Given the description of an element on the screen output the (x, y) to click on. 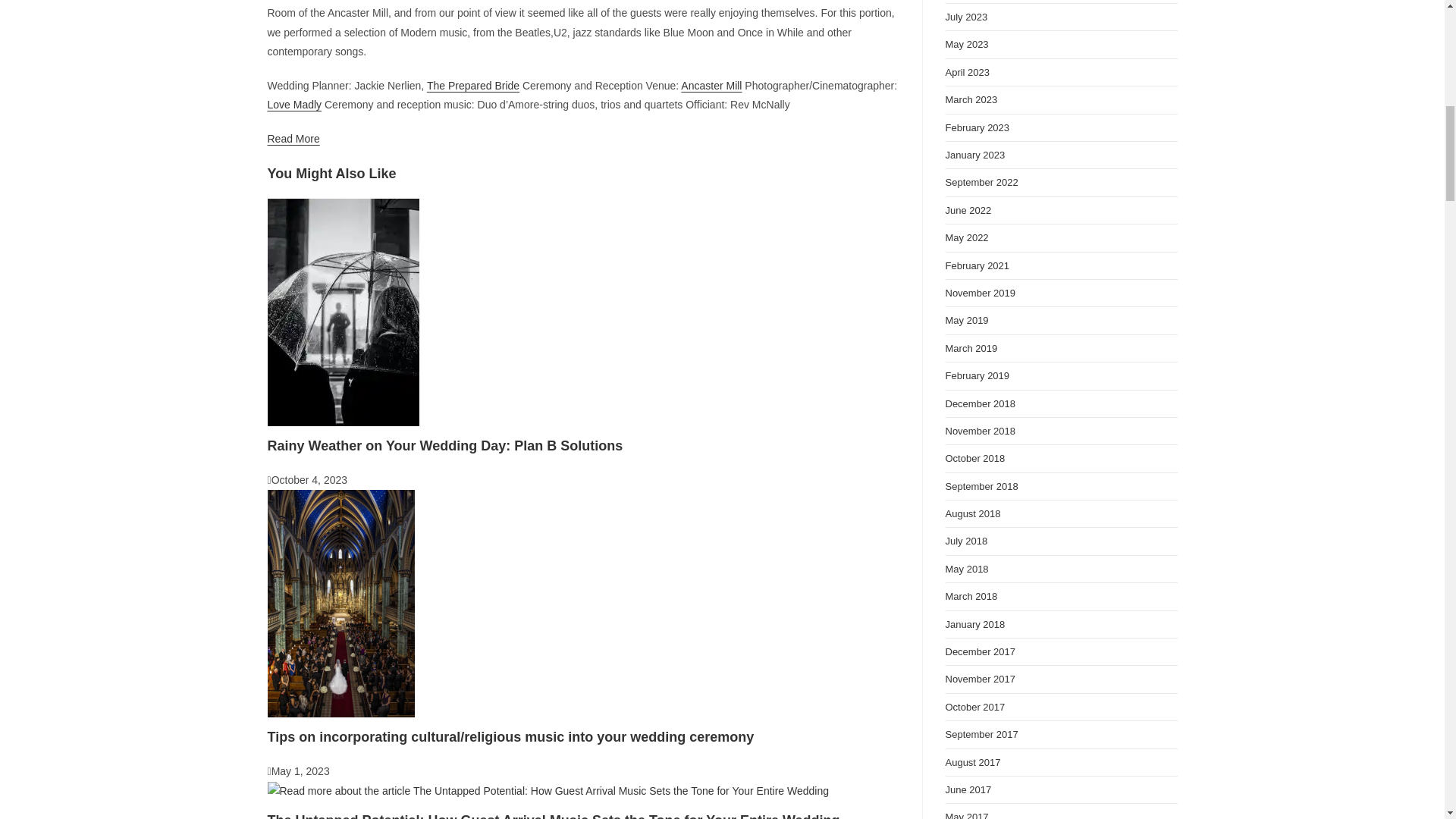
July 2023 (965, 16)
The Prepared Bride (472, 85)
Ancaster Mill (711, 85)
Rainy Weather on Your Wedding Day: Plan B Solutions (444, 445)
Read More (292, 138)
Love Madly (293, 104)
